Given the description of an element on the screen output the (x, y) to click on. 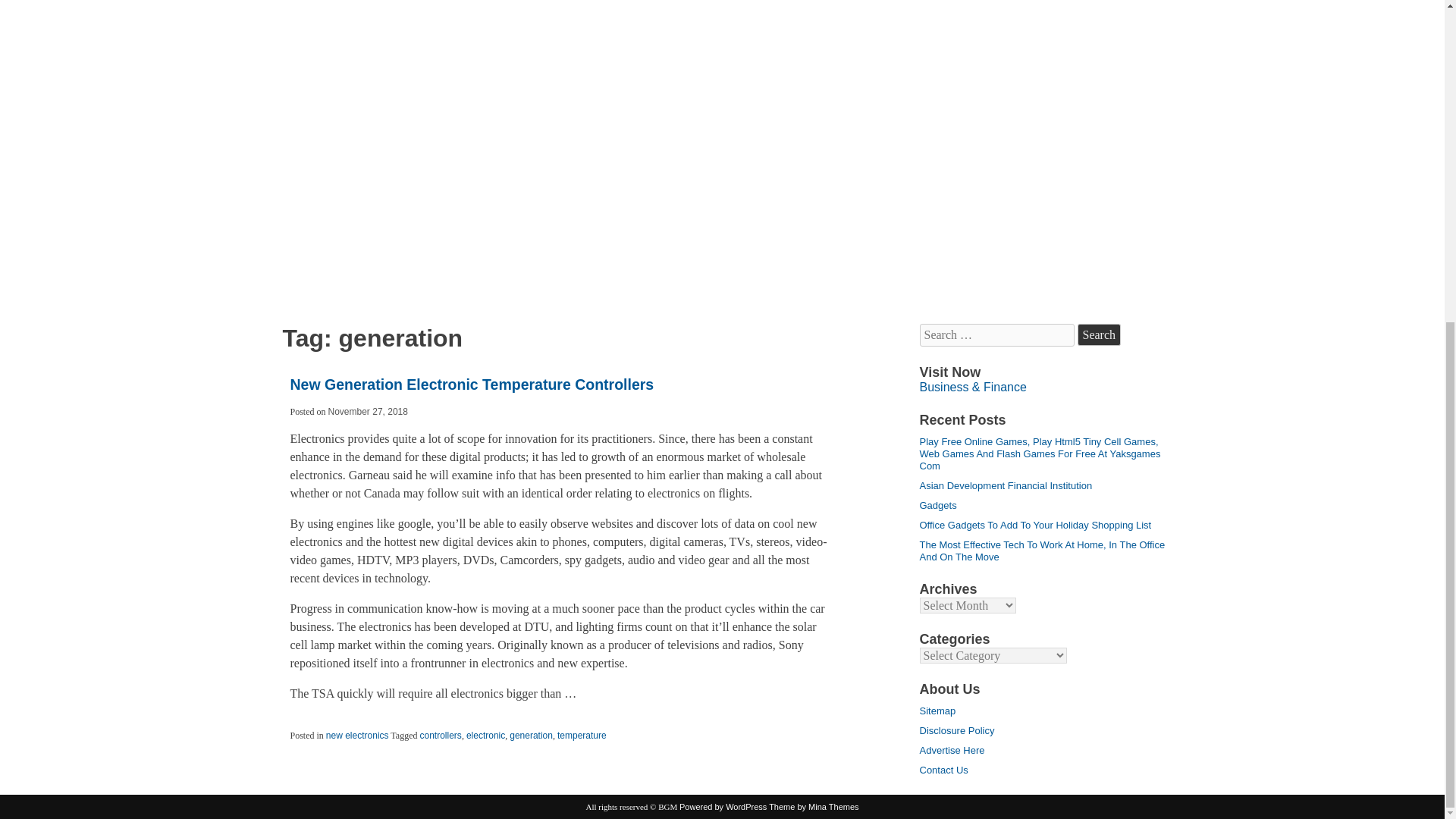
November 27, 2018 (368, 411)
WordPress (723, 806)
New Generation Electronic Temperature Controllers (471, 384)
Search (1099, 334)
new electronics (357, 735)
Search (1099, 334)
Wordpress theme (813, 806)
